Given the description of an element on the screen output the (x, y) to click on. 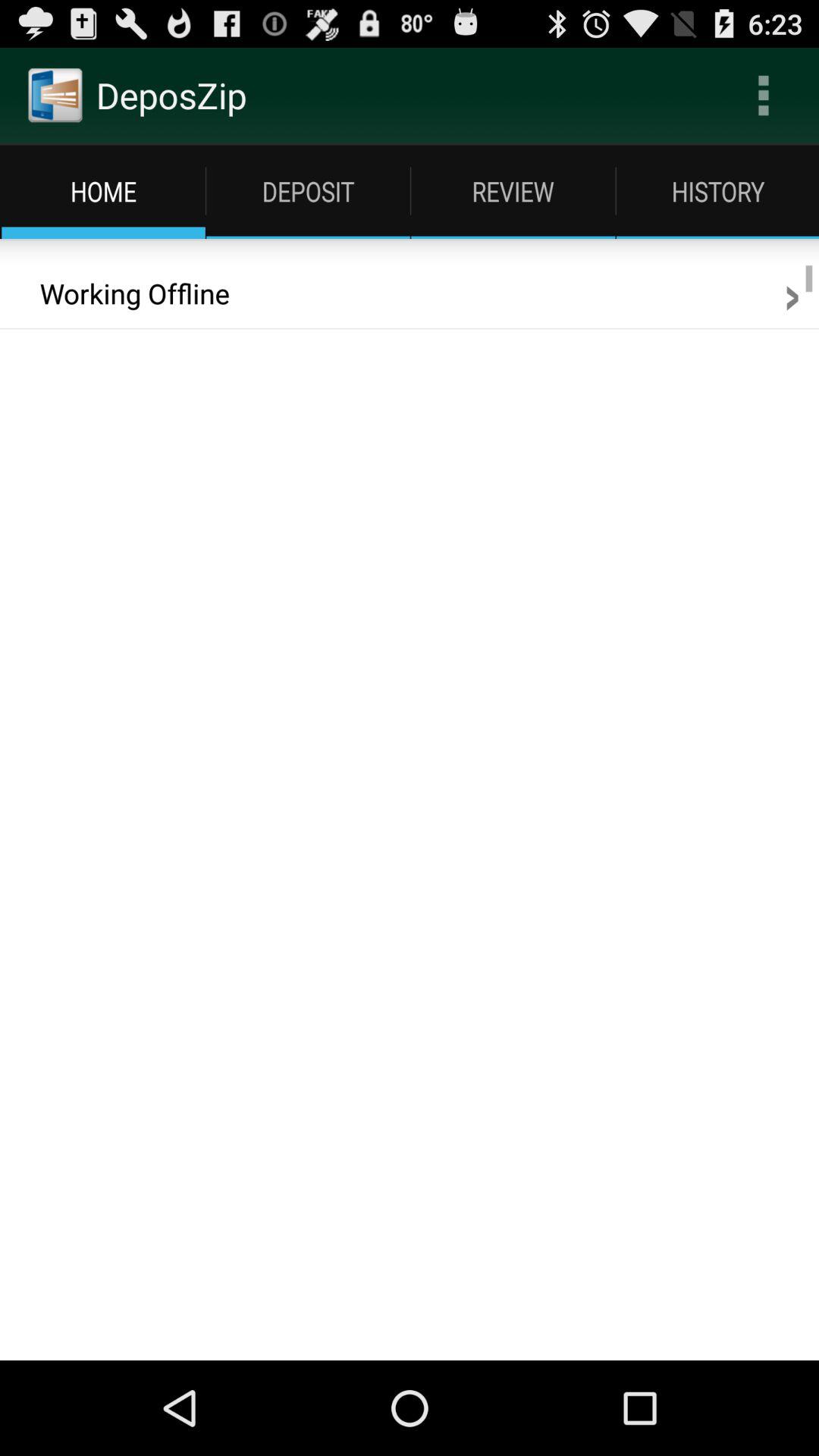
click item next to the > app (124, 293)
